Given the description of an element on the screen output the (x, y) to click on. 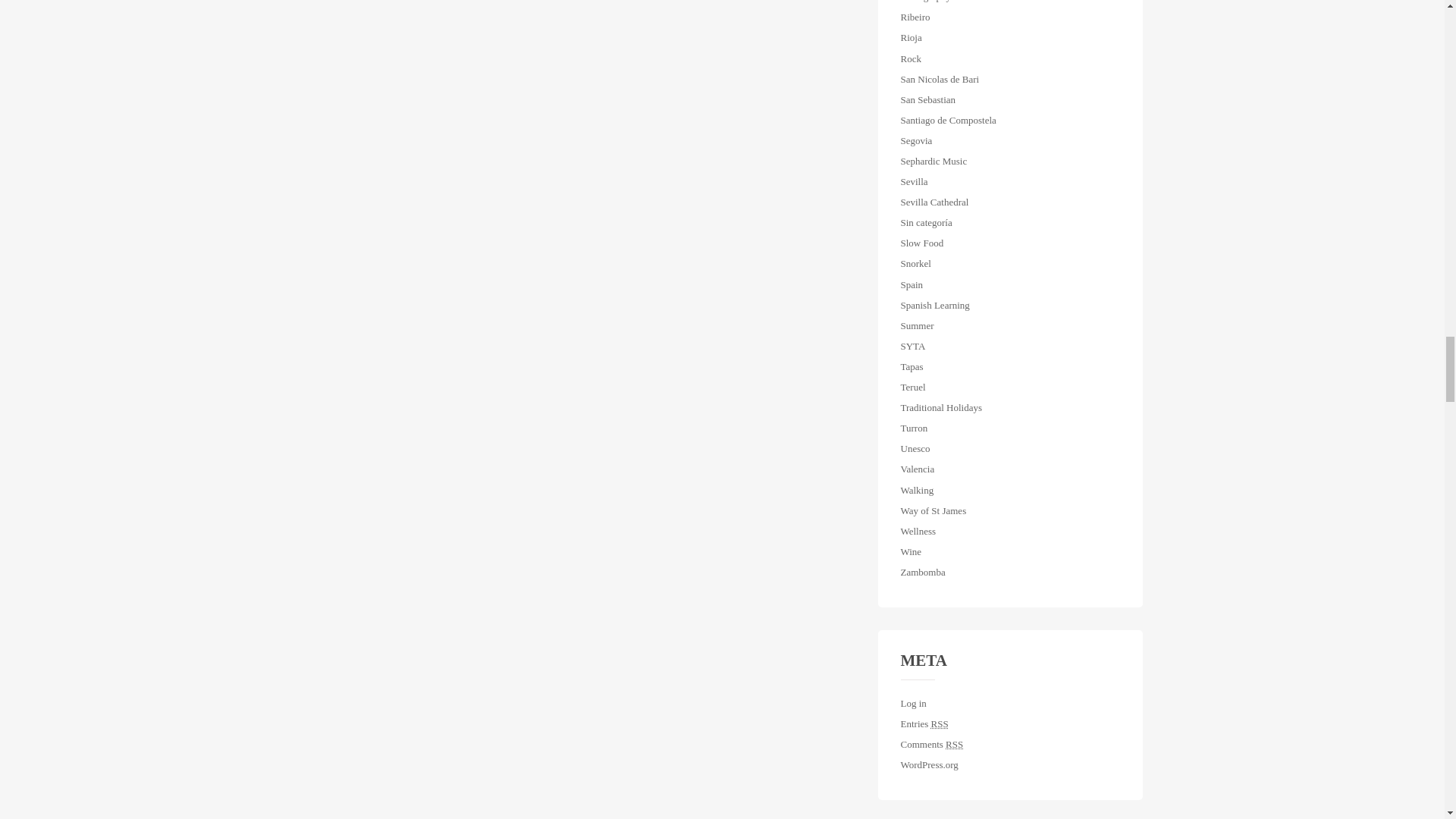
Really Simple Syndication (940, 723)
Really Simple Syndication (953, 744)
